Given the description of an element on the screen output the (x, y) to click on. 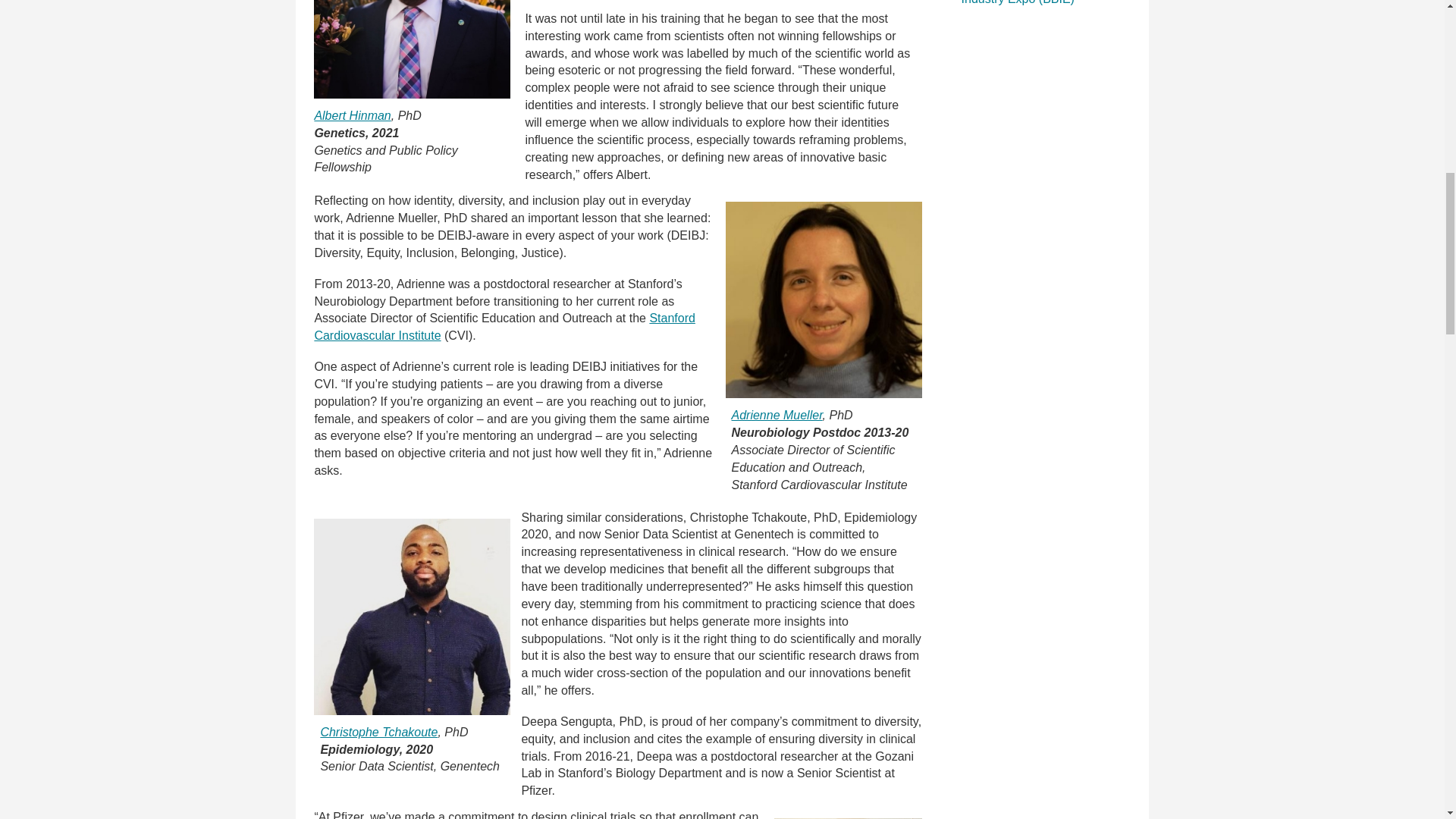
Albert Hinman  (412, 49)
Christophe Tchakoute on LinkedIn (379, 731)
Adrienne Mueller  (823, 299)
Christophe Tchakoute  (412, 616)
